Given the description of an element on the screen output the (x, y) to click on. 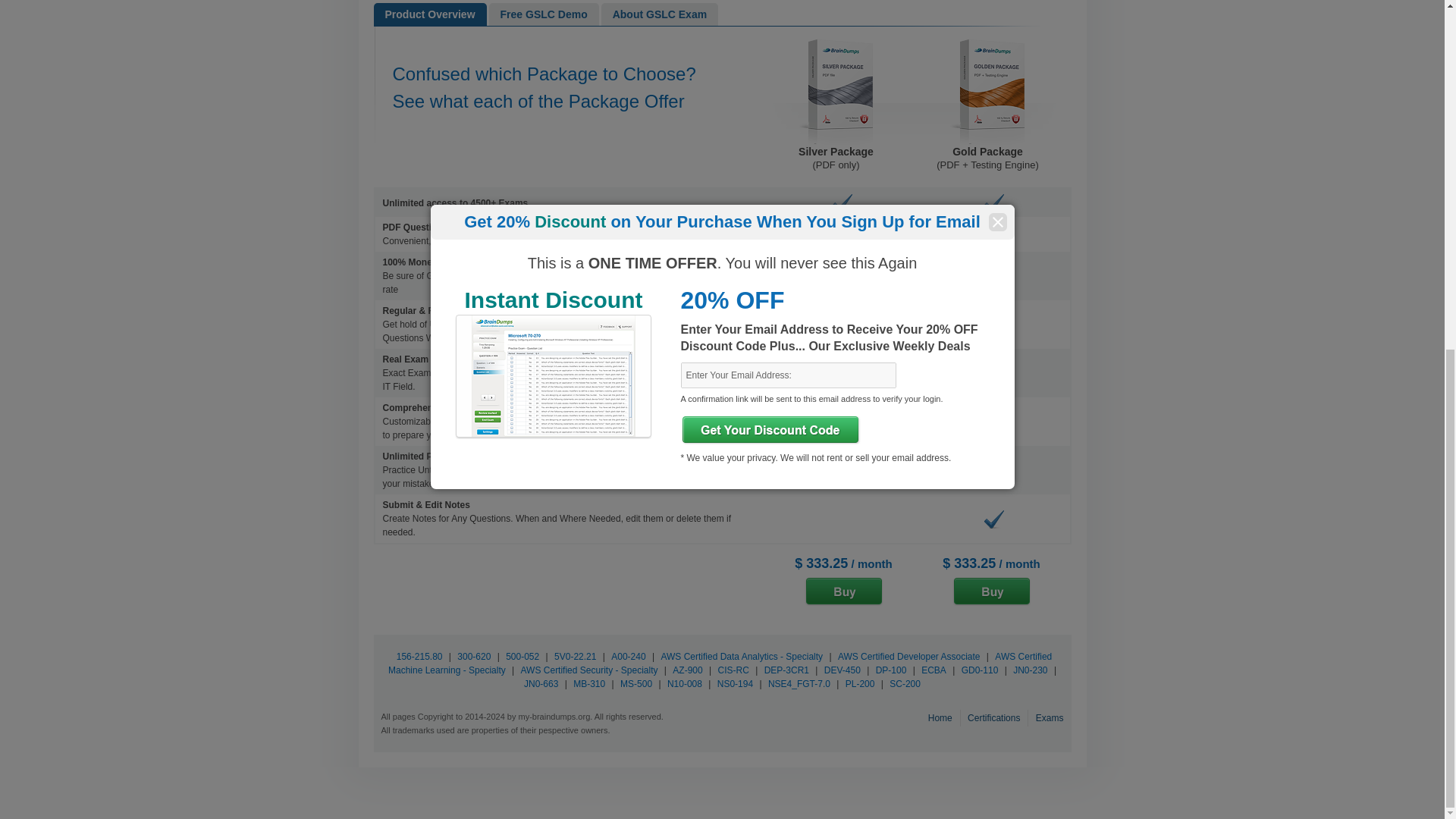
DEV-450 (842, 670)
AZ-900 (687, 670)
Product Overview (429, 14)
SC-200 (904, 683)
Certifications (994, 718)
AWS Certified Security - Specialty (589, 670)
500-052 (522, 656)
Buy Silver Package (843, 591)
PL-200 (860, 683)
NS0-194 (735, 683)
JN0-663 (540, 683)
Home (941, 718)
N10-008 (684, 683)
A00-240 (628, 656)
JN0-230 (1030, 670)
